Given the description of an element on the screen output the (x, y) to click on. 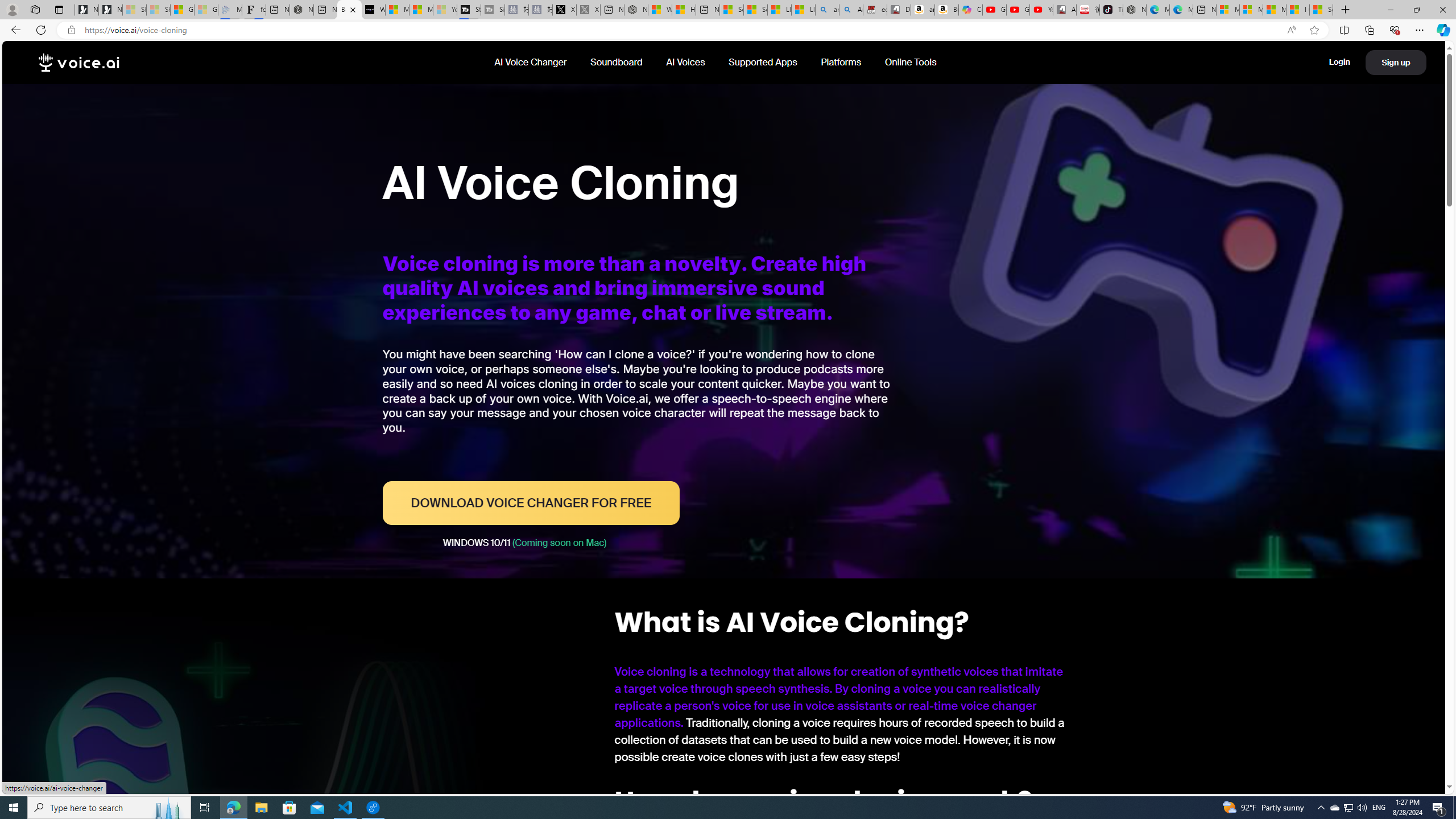
Sign up (1395, 62)
Gloom - YouTube (1018, 9)
AI Voices  (686, 61)
